Given the description of an element on the screen output the (x, y) to click on. 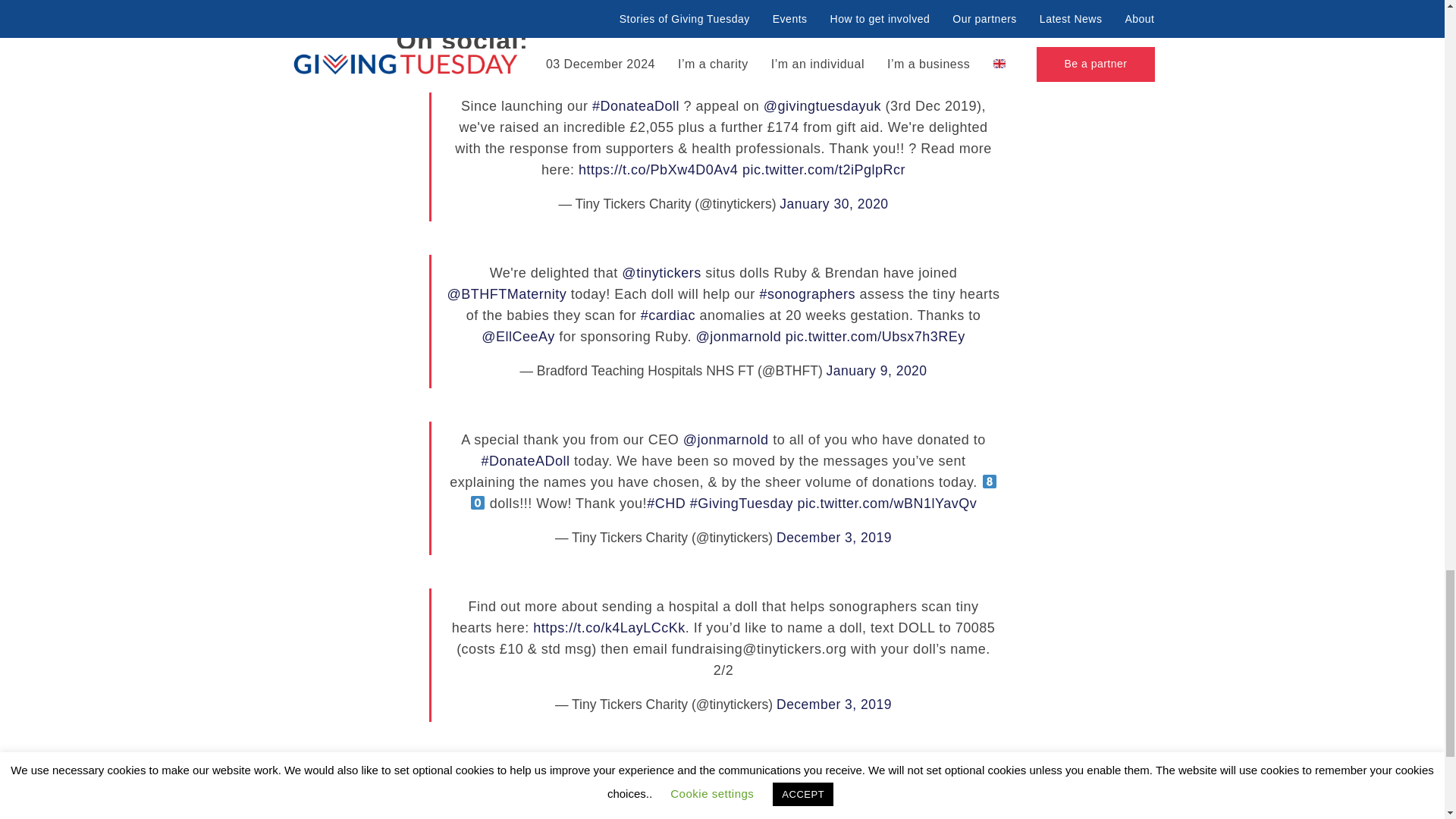
January 30, 2020 (833, 203)
